Given the description of an element on the screen output the (x, y) to click on. 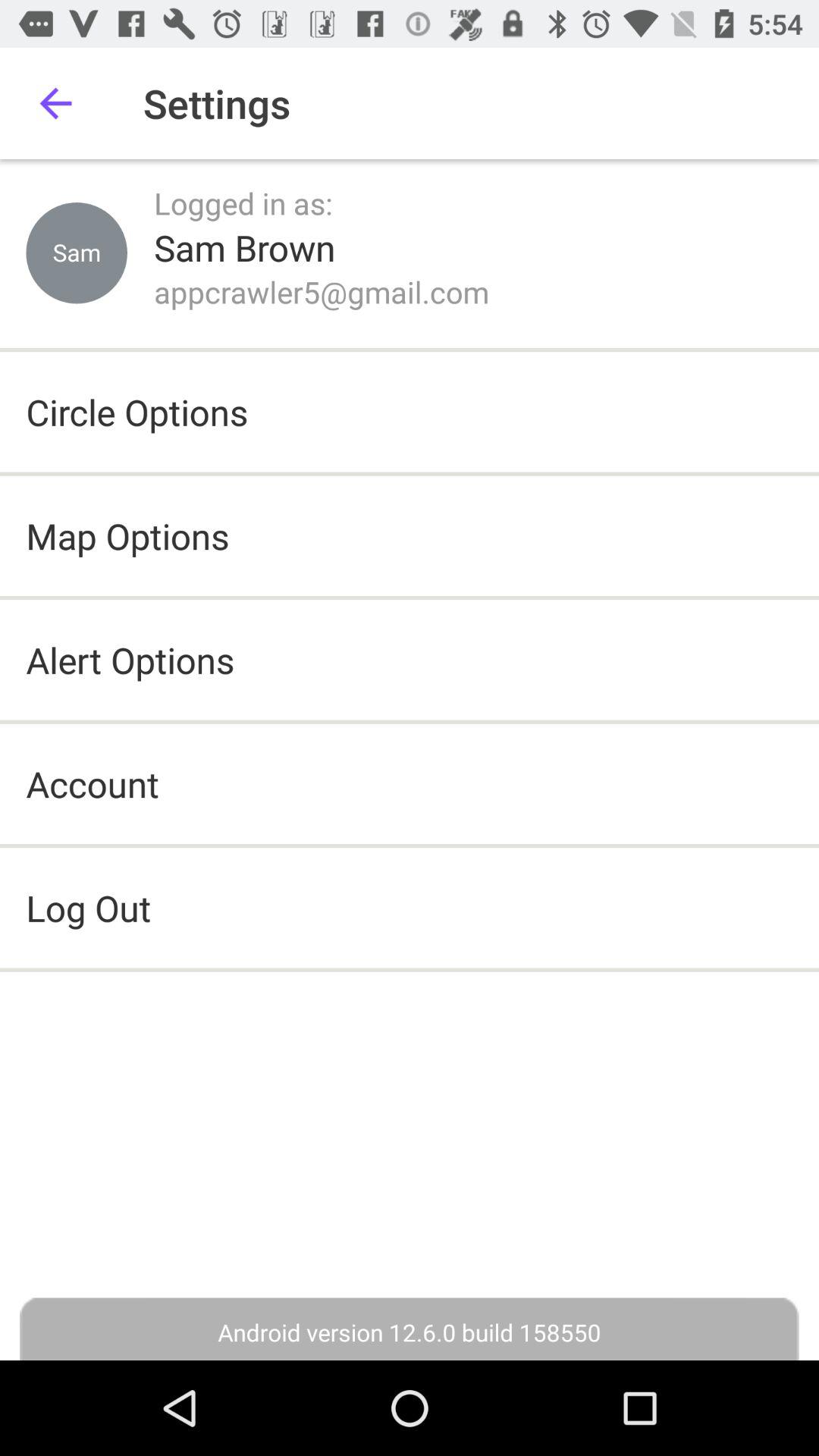
jump to the circle options (136, 411)
